Given the description of an element on the screen output the (x, y) to click on. 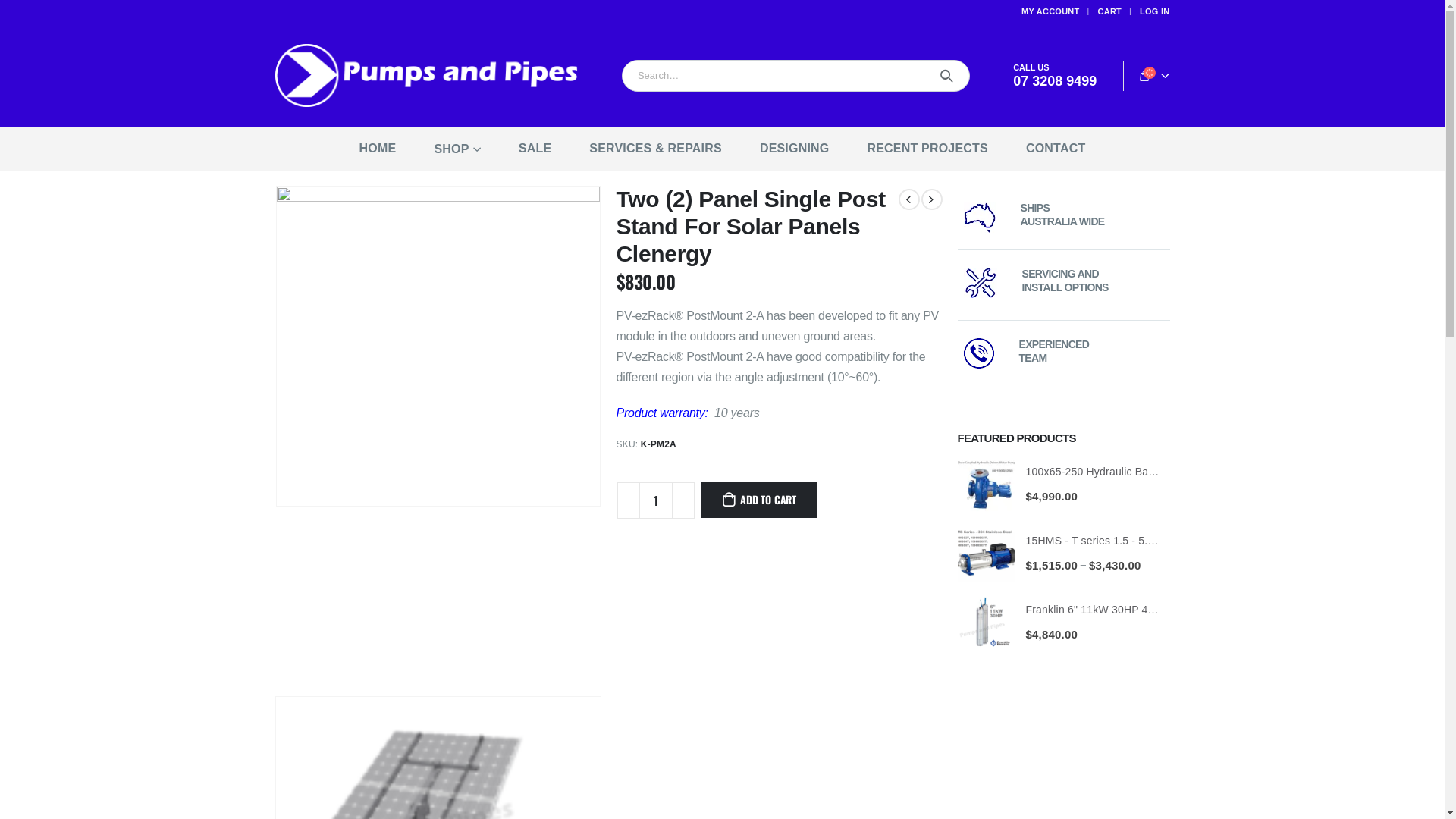
Qty Element type: hover (654, 500)
CART Element type: text (1110, 11)
SERVICES & REPAIRS Element type: text (655, 148)
CONTACT Element type: text (1055, 148)
Search Element type: hover (946, 75)
DESIGNING Element type: text (794, 148)
ADD TO CART Element type: text (758, 499)
Single Post Stand For tWO Element type: hover (437, 345)
MY ACCOUNT Element type: text (1052, 11)
SALE Element type: text (534, 148)
+ Element type: text (682, 500)
HOME Element type: text (377, 148)
LOG IN Element type: text (1154, 11)
- Element type: text (628, 500)
RECENT PROJECTS Element type: text (926, 148)
Pumps and Pipes - Pump and Water Specialists Element type: hover (425, 74)
SHOP Element type: text (456, 148)
